Given the description of an element on the screen output the (x, y) to click on. 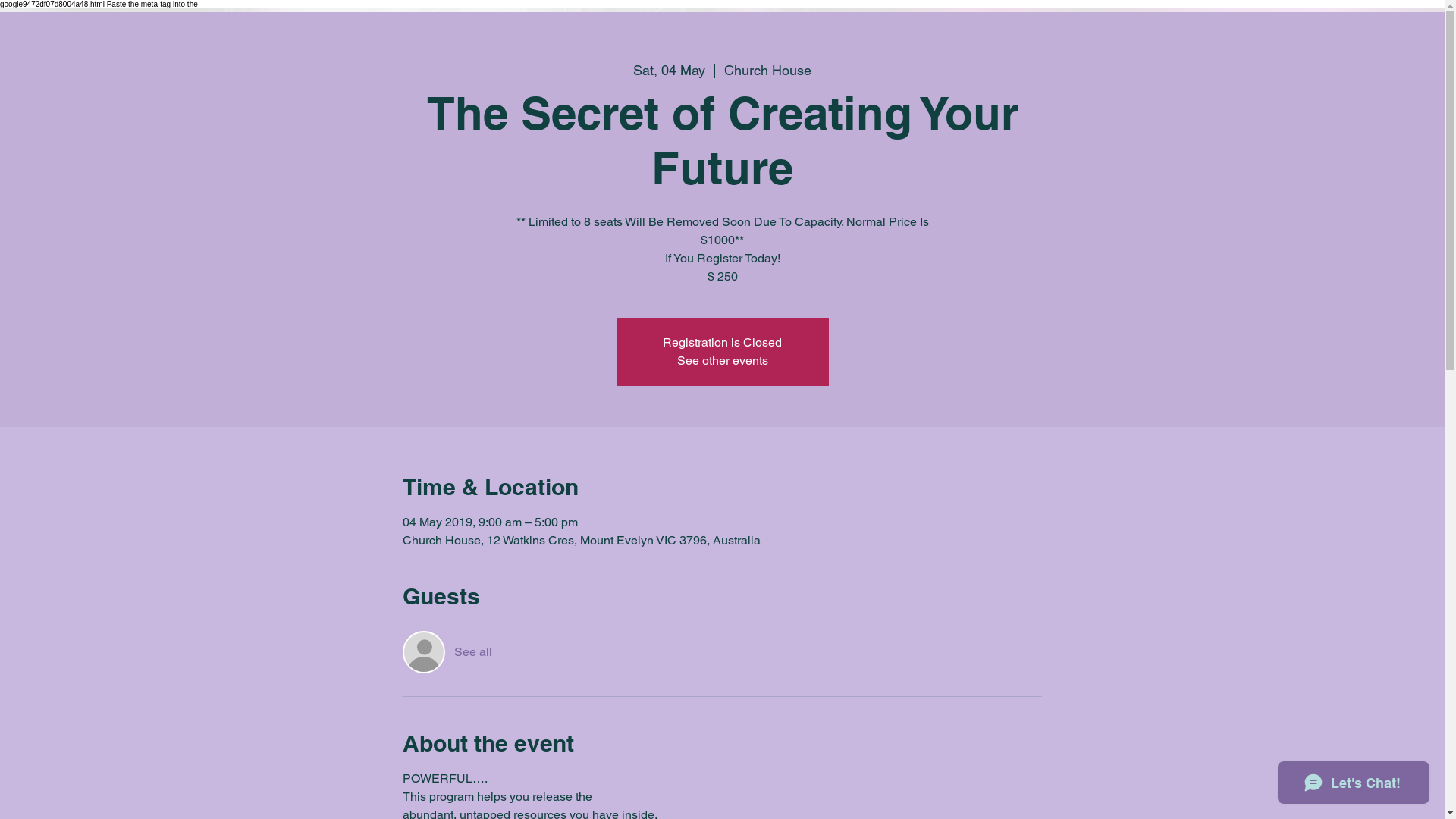
See other events Element type: text (721, 360)
See all Element type: text (473, 651)
